Given the description of an element on the screen output the (x, y) to click on. 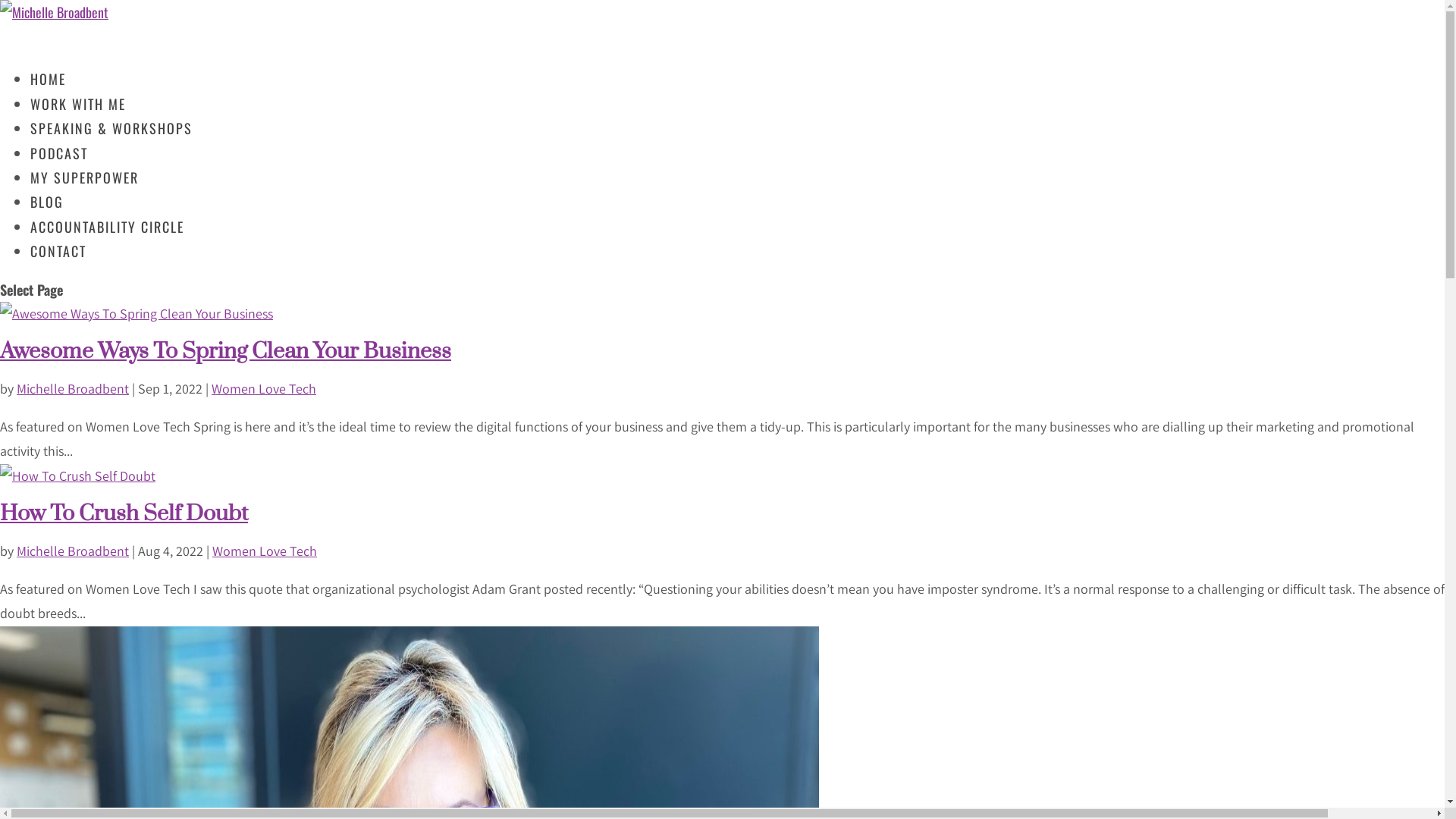
BLOG Element type: text (46, 215)
Michelle Broadbent Element type: text (72, 388)
ACCOUNTABILITY CIRCLE Element type: text (107, 240)
SPEAKING & WORKSHOPS Element type: text (111, 142)
Women Love Tech Element type: text (263, 388)
MY SUPERPOWER Element type: text (84, 191)
How To Crush Self Doubt Element type: text (123, 513)
CONTACT Element type: text (58, 265)
Women Love Tech Element type: text (264, 550)
HOME Element type: text (47, 93)
WORK WITH ME Element type: text (77, 118)
PODCAST Element type: text (58, 167)
Michelle Broadbent Element type: text (72, 550)
Awesome Ways To Spring Clean Your Business Element type: text (225, 351)
